Given the description of an element on the screen output the (x, y) to click on. 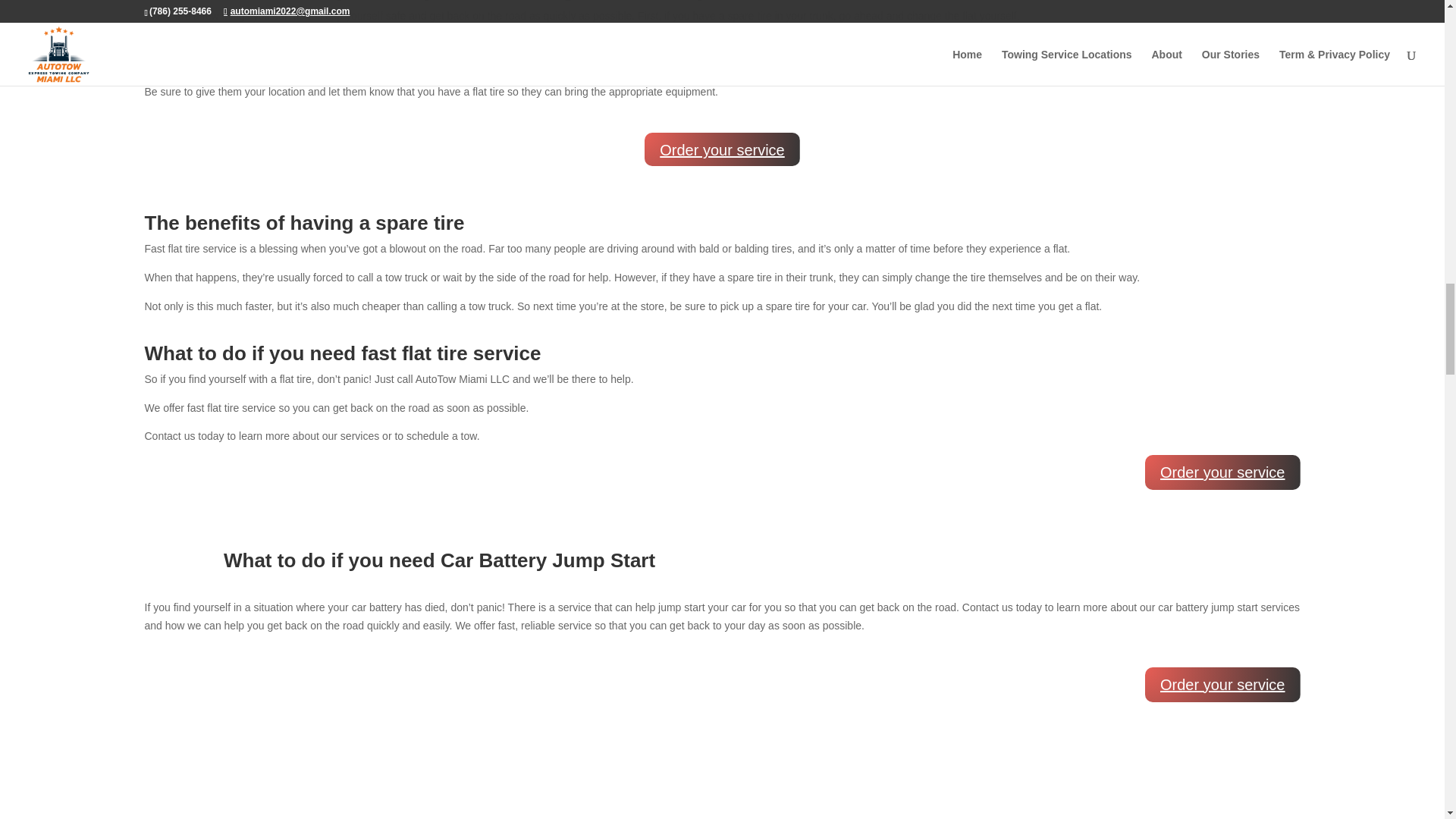
Order your service (722, 149)
Order your service (1222, 472)
tow truck (229, 62)
Order your service (1222, 684)
